Given the description of an element on the screen output the (x, y) to click on. 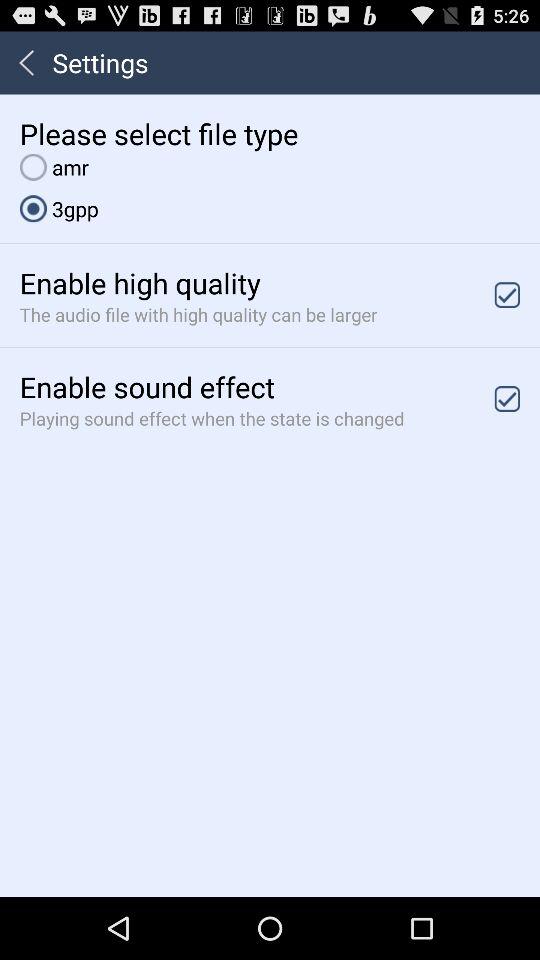
open the icon below please select file item (53, 166)
